Given the description of an element on the screen output the (x, y) to click on. 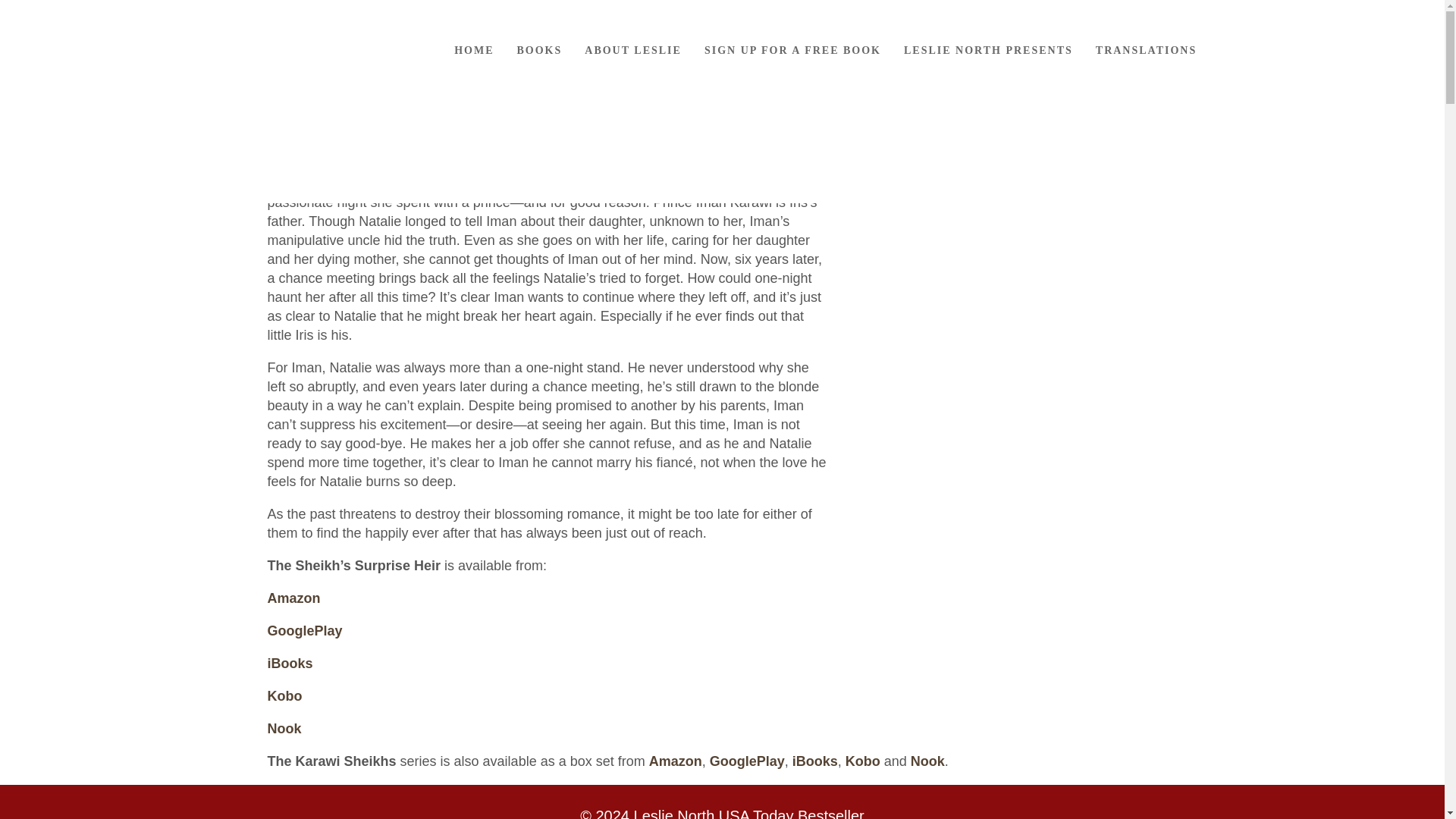
ABOUT LESLIE (633, 50)
LESLIE NORTH PRESENTS (988, 50)
HOME (473, 50)
BOOKS (539, 50)
TRANSLATIONS (1146, 50)
SIGN UP FOR A FREE BOOK (792, 50)
